Given the description of an element on the screen output the (x, y) to click on. 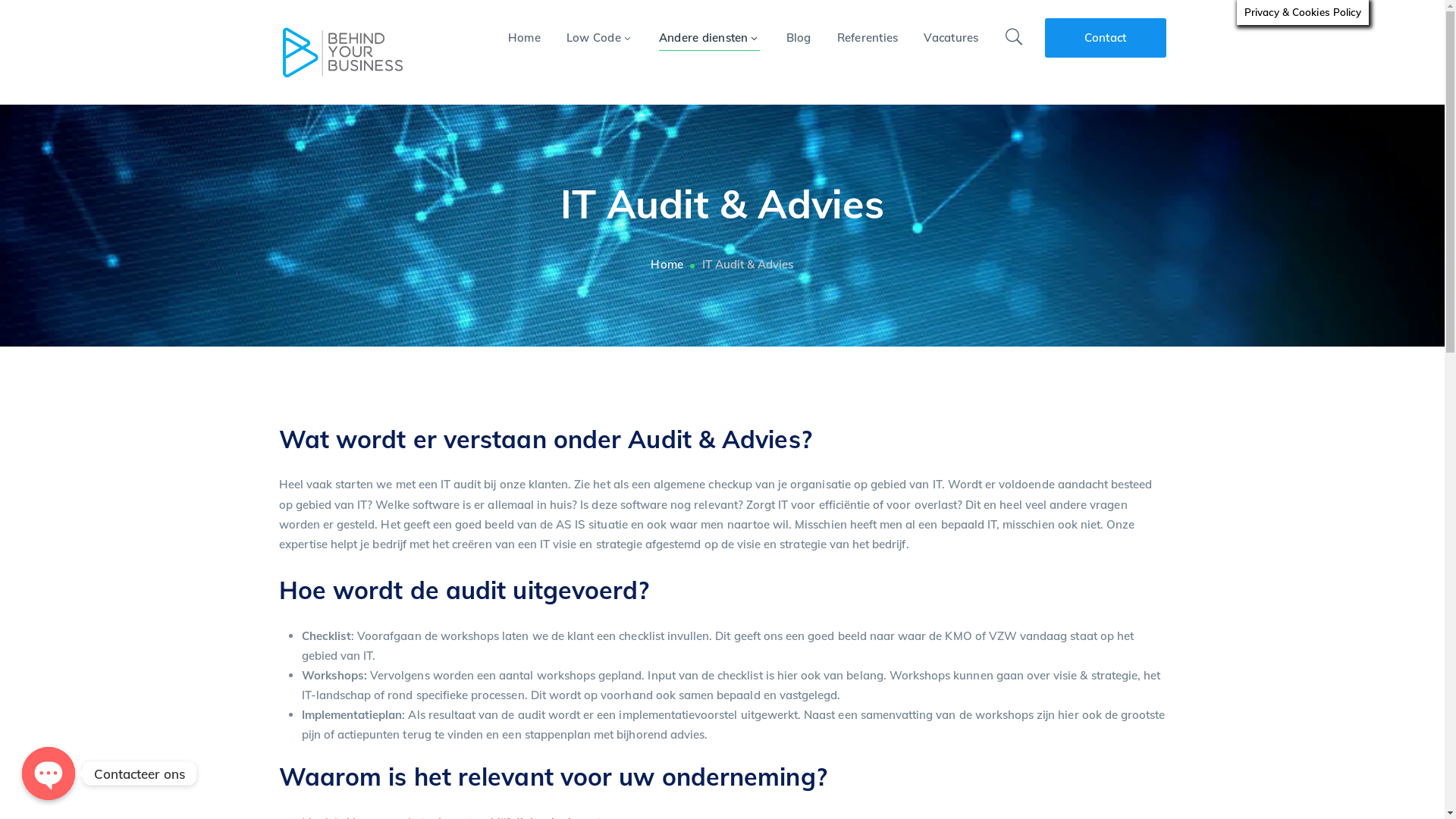
Home Element type: text (675, 264)
Contact Element type: text (1105, 37)
Vacatures Element type: text (950, 37)
Home Element type: text (524, 37)
Low Code Element type: text (599, 37)
Blog Element type: text (797, 37)
Behind Your Business Element type: hover (341, 50)
Andere diensten Element type: text (709, 37)
Referenties Element type: text (867, 37)
